Given the description of an element on the screen output the (x, y) to click on. 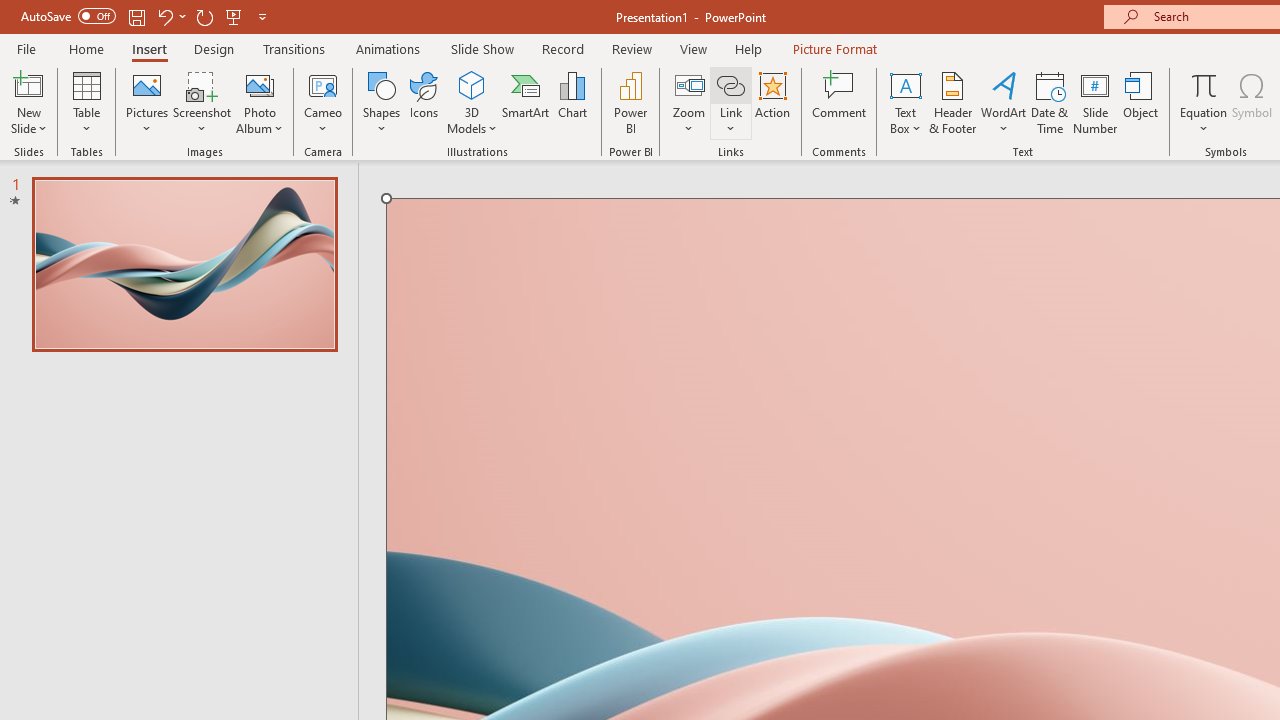
Comment (839, 102)
New Photo Album... (259, 84)
Chart... (572, 102)
Slide Number (1095, 102)
Action (772, 102)
Photo Album... (259, 102)
